Given the description of an element on the screen output the (x, y) to click on. 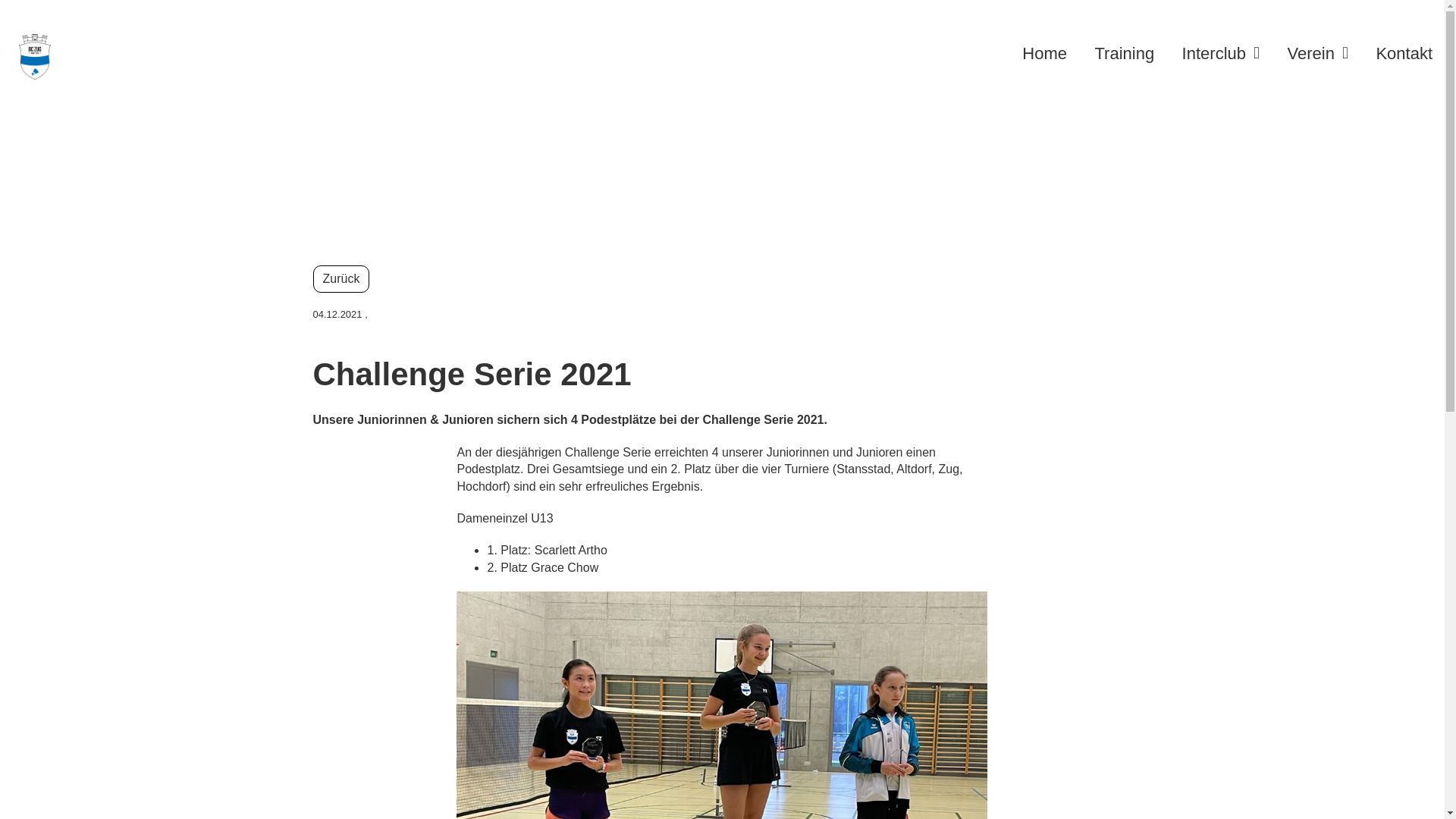
Interclub Element type: text (1220, 53)
Home Element type: text (1044, 53)
Verein Element type: text (1317, 53)
Training Element type: text (1124, 53)
Kontakt Element type: text (1403, 53)
